Given the description of an element on the screen output the (x, y) to click on. 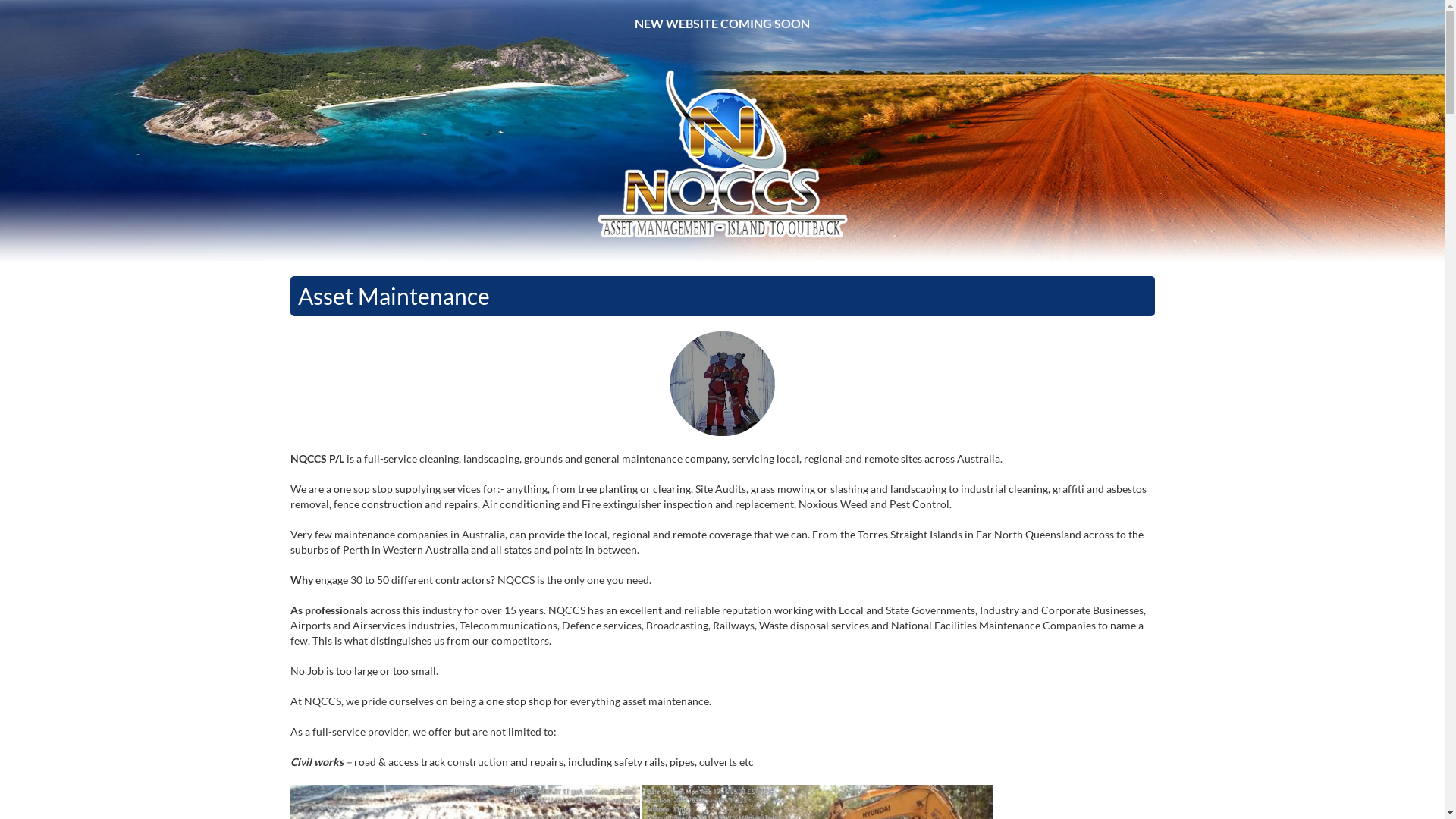
NEW WEBSITE COMING SOON Element type: text (722, 23)
